Given the description of an element on the screen output the (x, y) to click on. 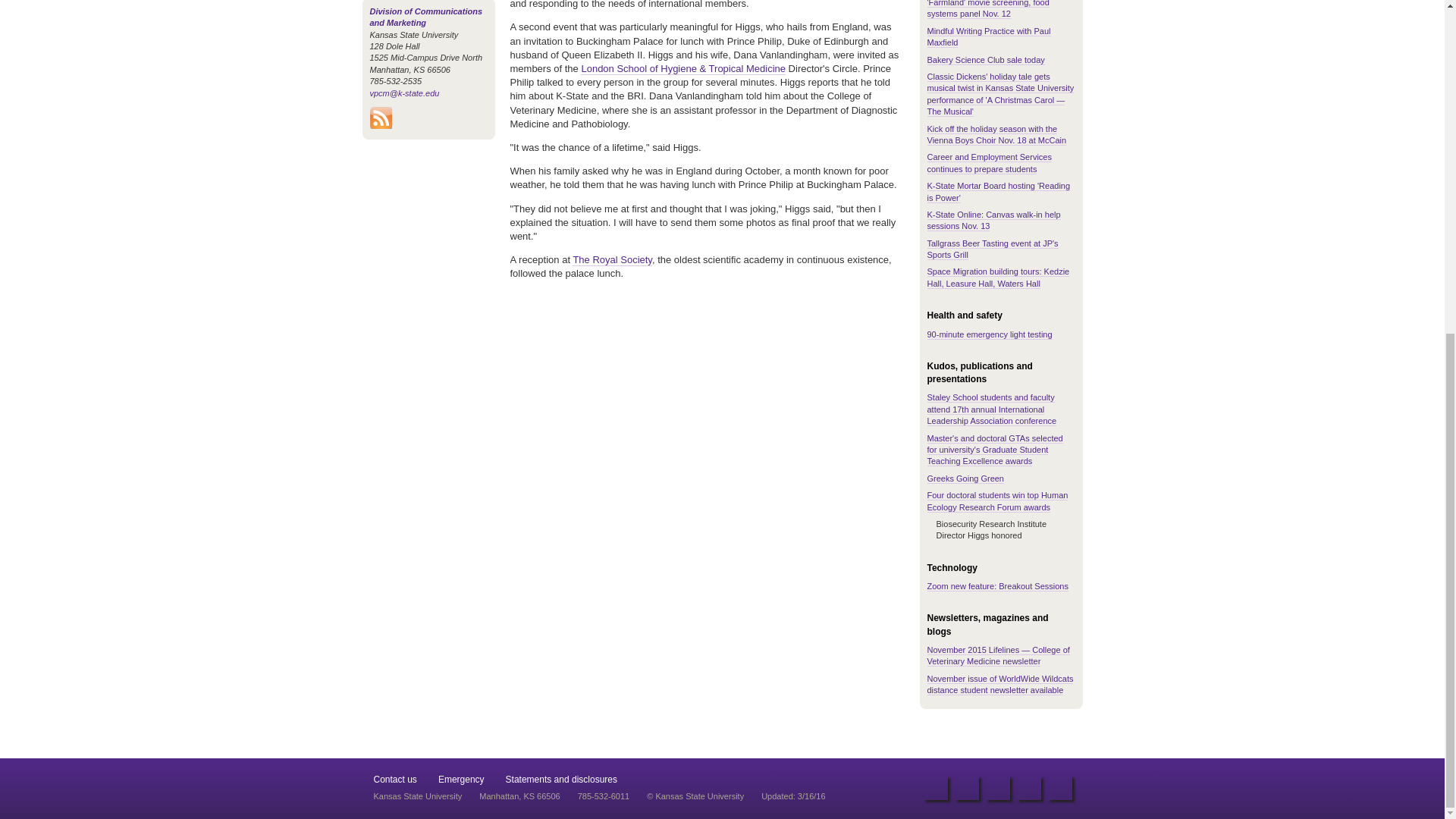
The Royal Society (612, 259)
Division of Communications and Marketing (426, 16)
Subscribe to K-State Today RSS feeds (380, 125)
